Given the description of an element on the screen output the (x, y) to click on. 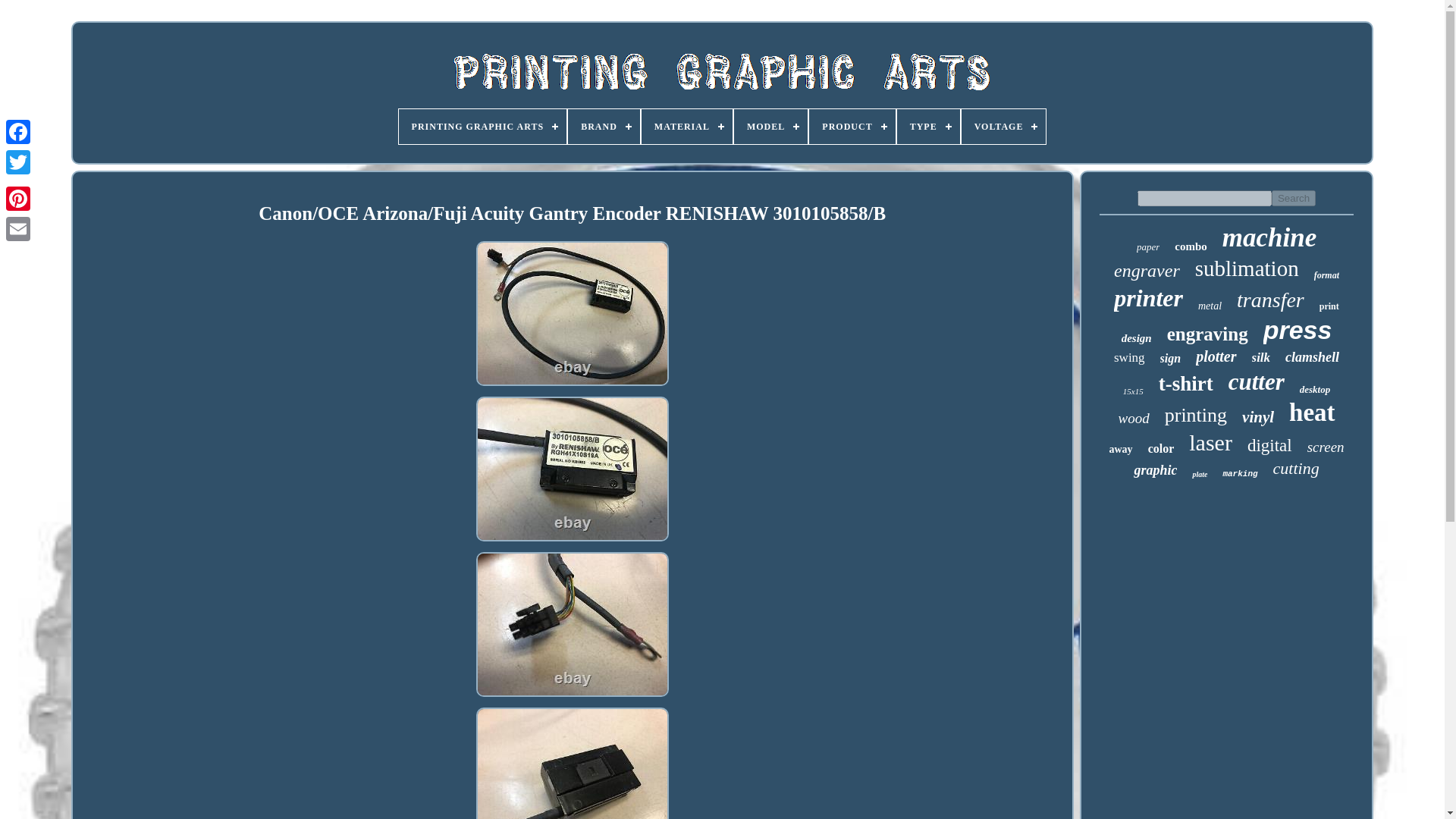
Email (17, 228)
MATERIAL (687, 126)
BRAND (603, 126)
Search (1293, 198)
PRINTING GRAPHIC ARTS (482, 126)
Twitter (17, 162)
